Given the description of an element on the screen output the (x, y) to click on. 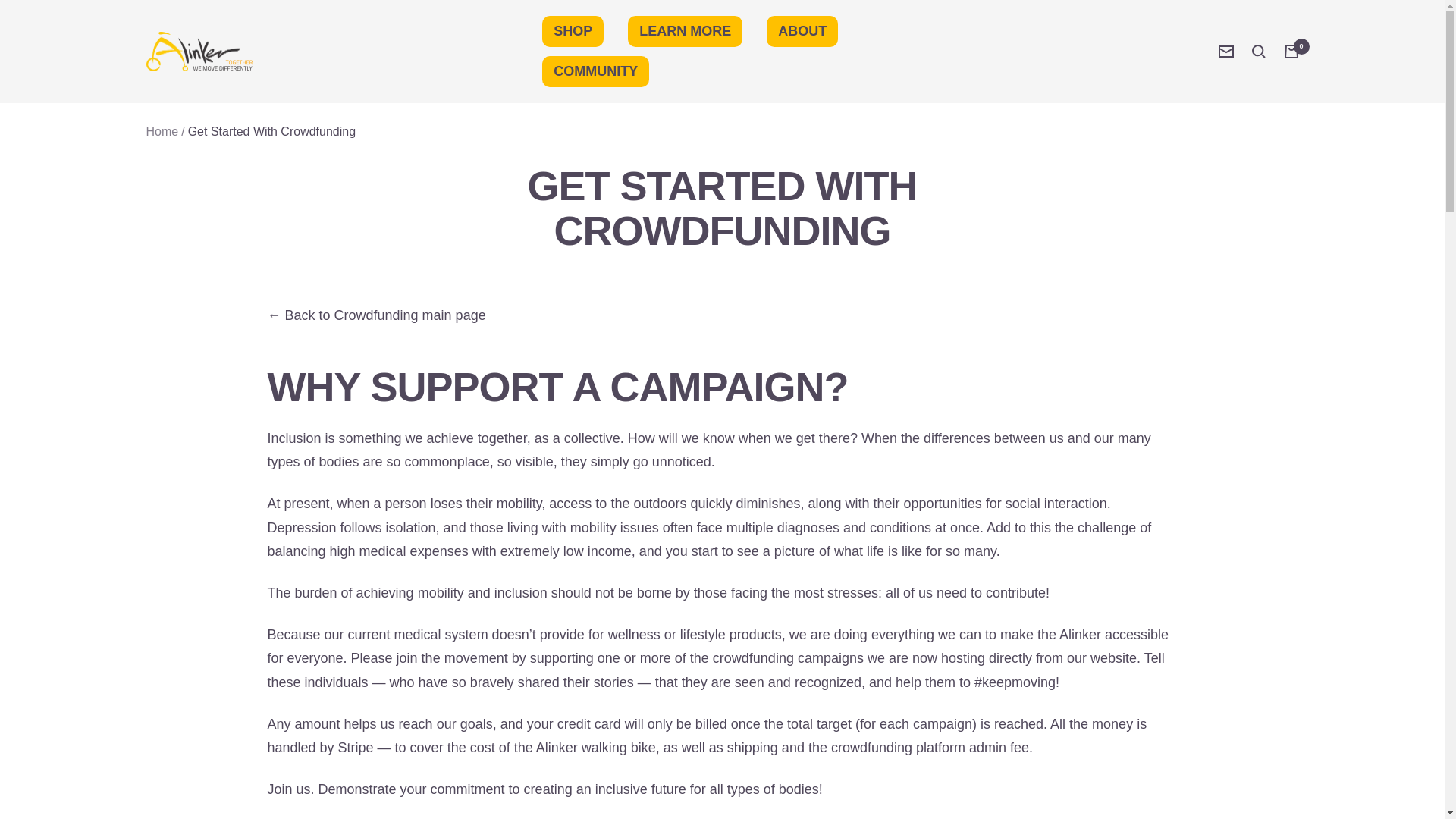
SHOP (572, 30)
LEARN MORE (684, 30)
0 (1291, 51)
ABOUT (802, 30)
COMMUNITY (595, 71)
The Alinker Inventions Ltd. (198, 51)
Newsletter (1225, 51)
